Given the description of an element on the screen output the (x, y) to click on. 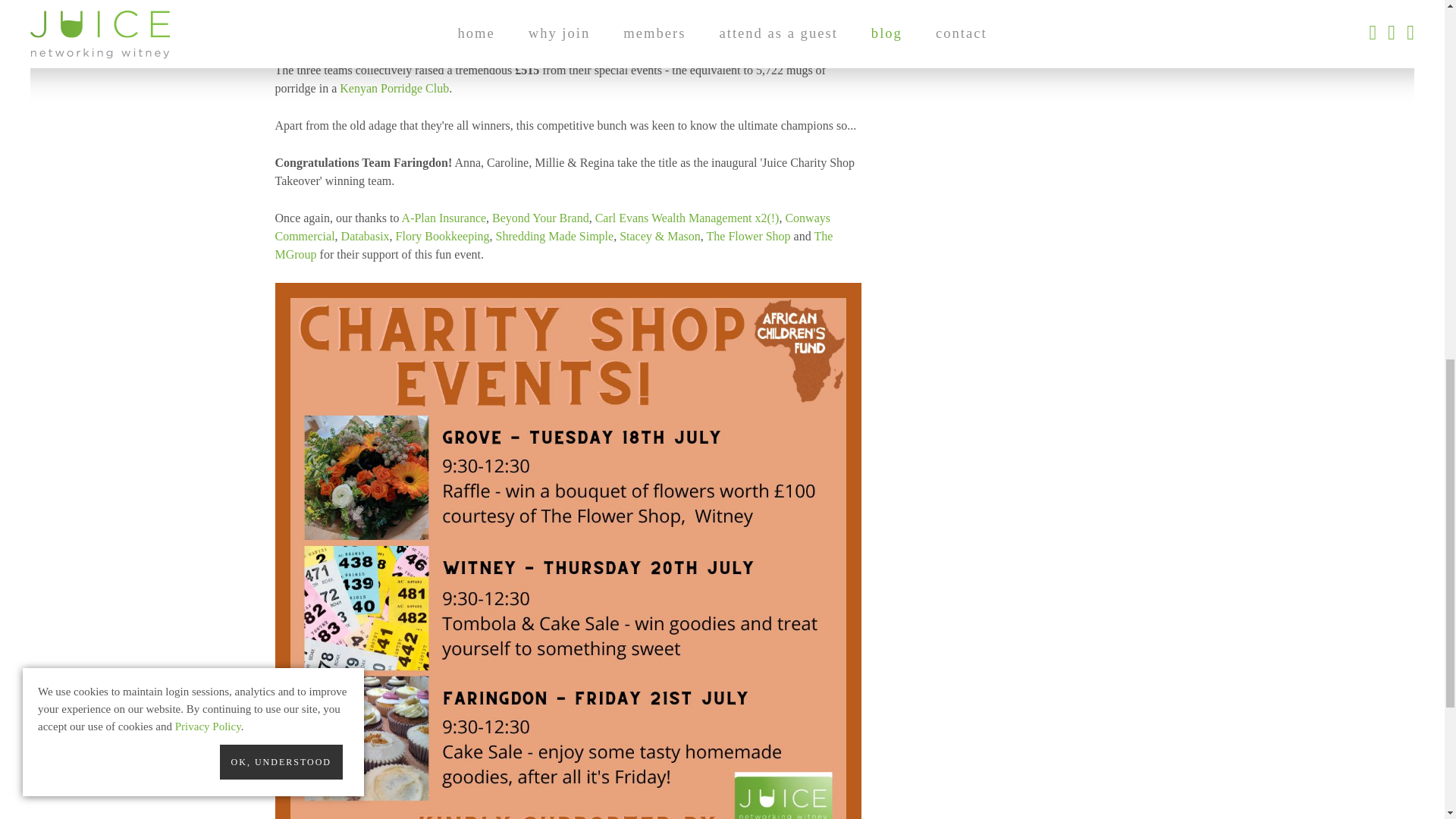
Conways Commercial (552, 226)
Kenyan Porridge Club (393, 88)
A-Plan Insurance (443, 217)
Flory Bookkeeping (442, 236)
Carl Evans Wealth Management (673, 217)
Shredding Made Simple (555, 236)
Beyond Your Brand (540, 217)
The Flower Shop (748, 236)
The MGroup (553, 245)
Databasix (365, 236)
